Given the description of an element on the screen output the (x, y) to click on. 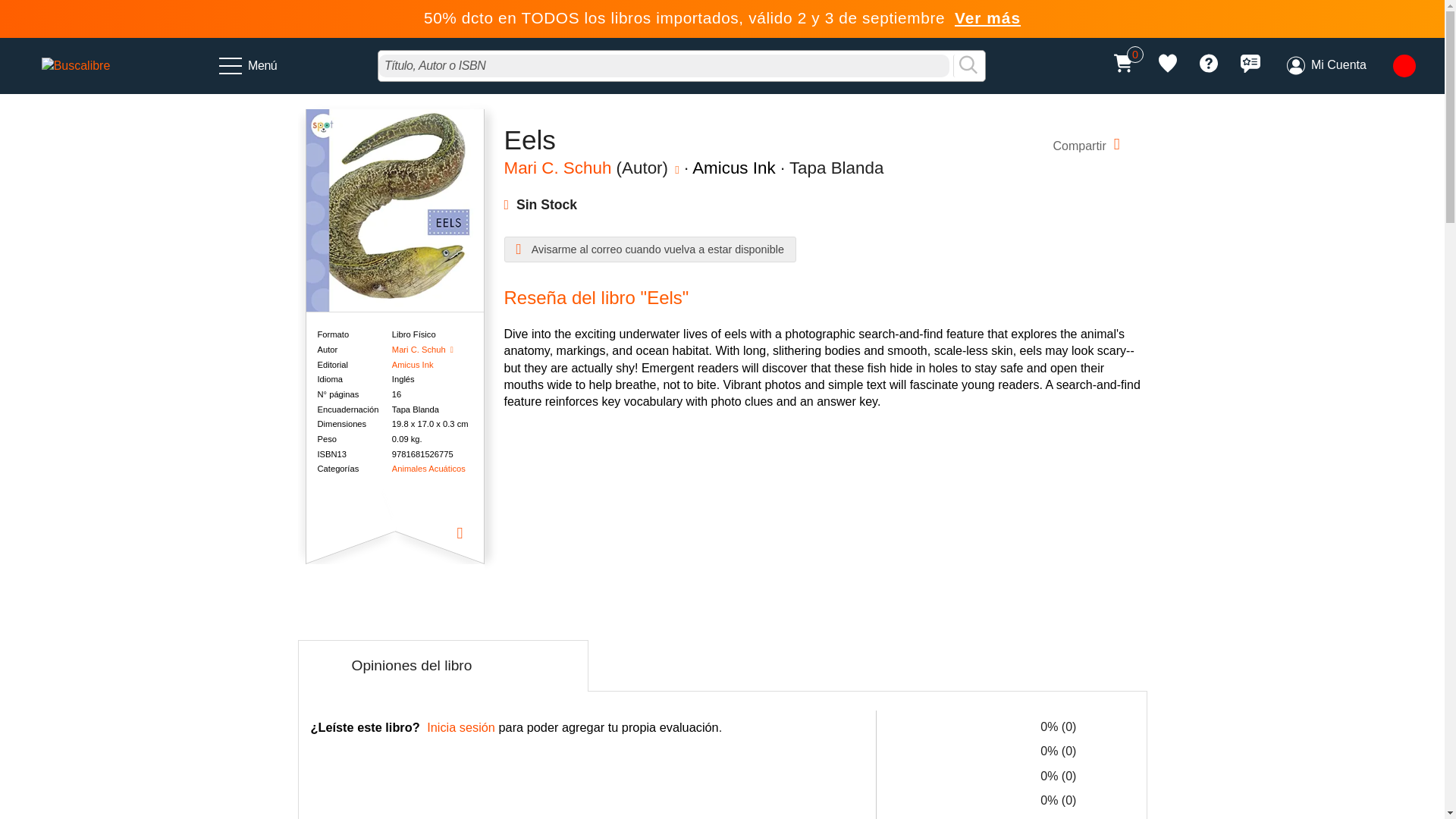
Buscar (968, 65)
Mi Cuenta (1326, 64)
Mi Cuenta (1326, 64)
Buscalibre.com (75, 65)
